Given the description of an element on the screen output the (x, y) to click on. 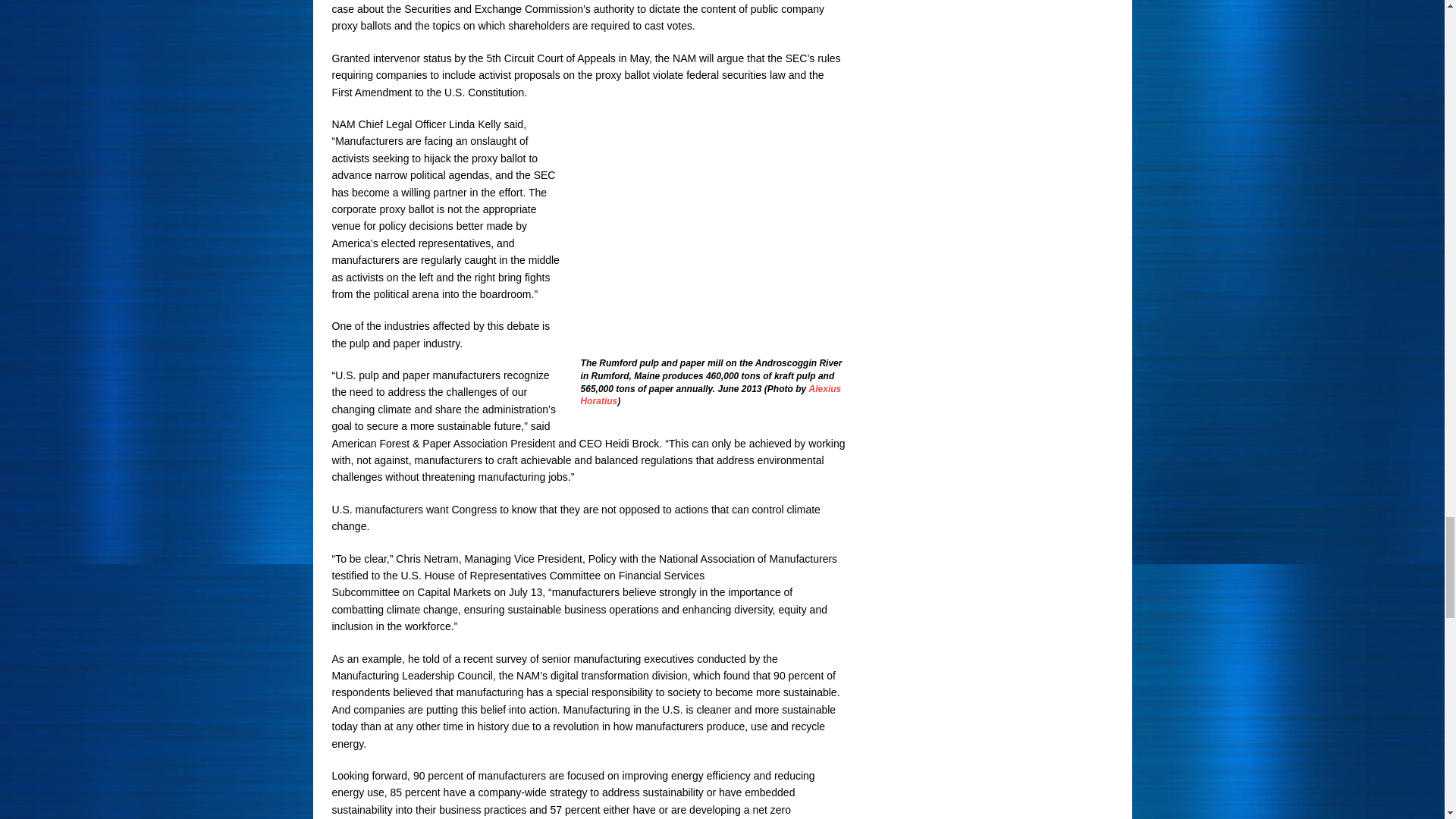
Alexius Horatius (710, 395)
